Given the description of an element on the screen output the (x, y) to click on. 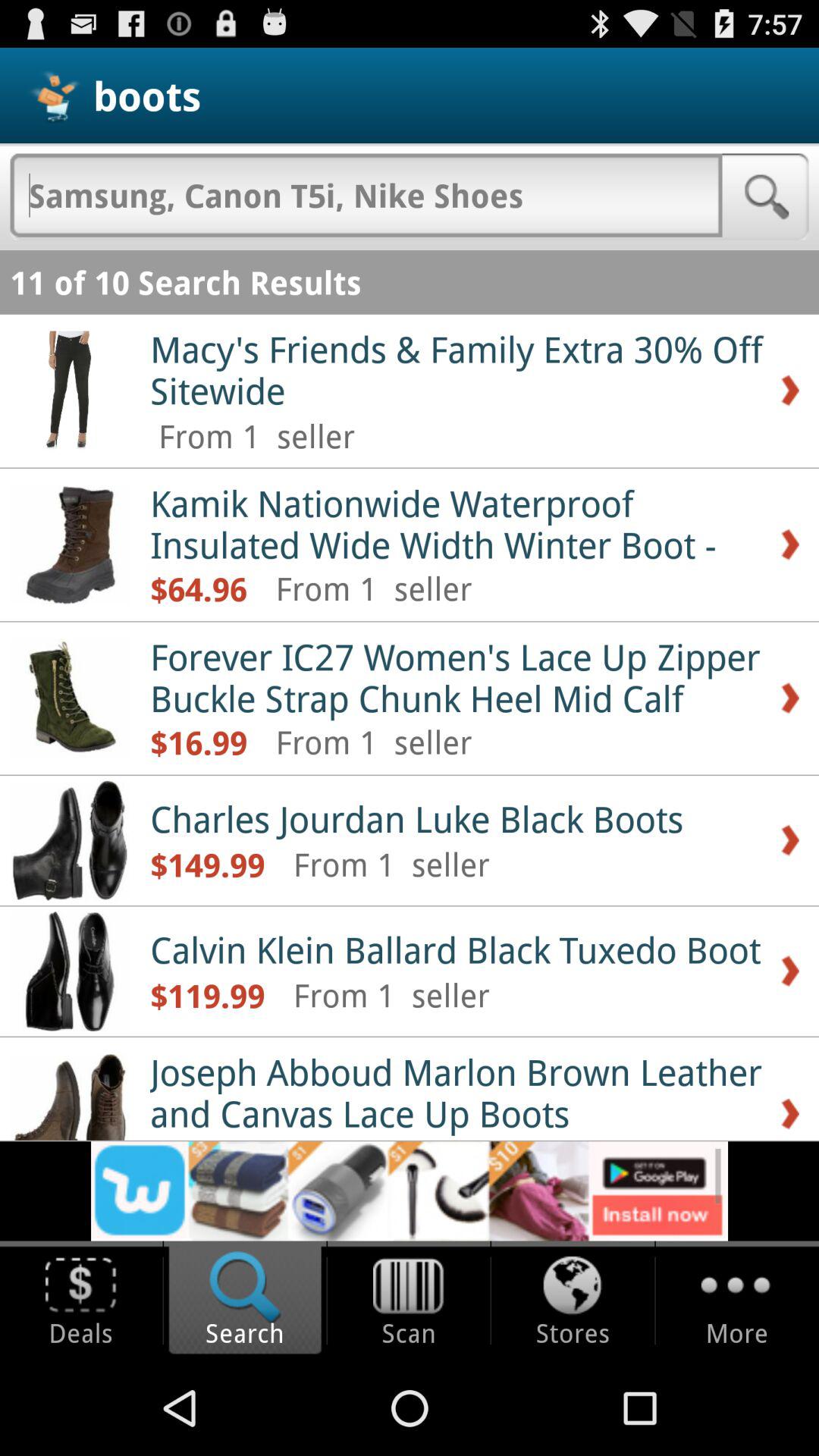
select the scan icon which is next to search icon at the bottom of the page (408, 1300)
select the stores icon (573, 1286)
click on the fifth image below the search bar (69, 970)
select the search icon which is above the navigation bar (244, 1300)
click on the fifth right scroll button below the search bar (789, 971)
